Given the description of an element on the screen output the (x, y) to click on. 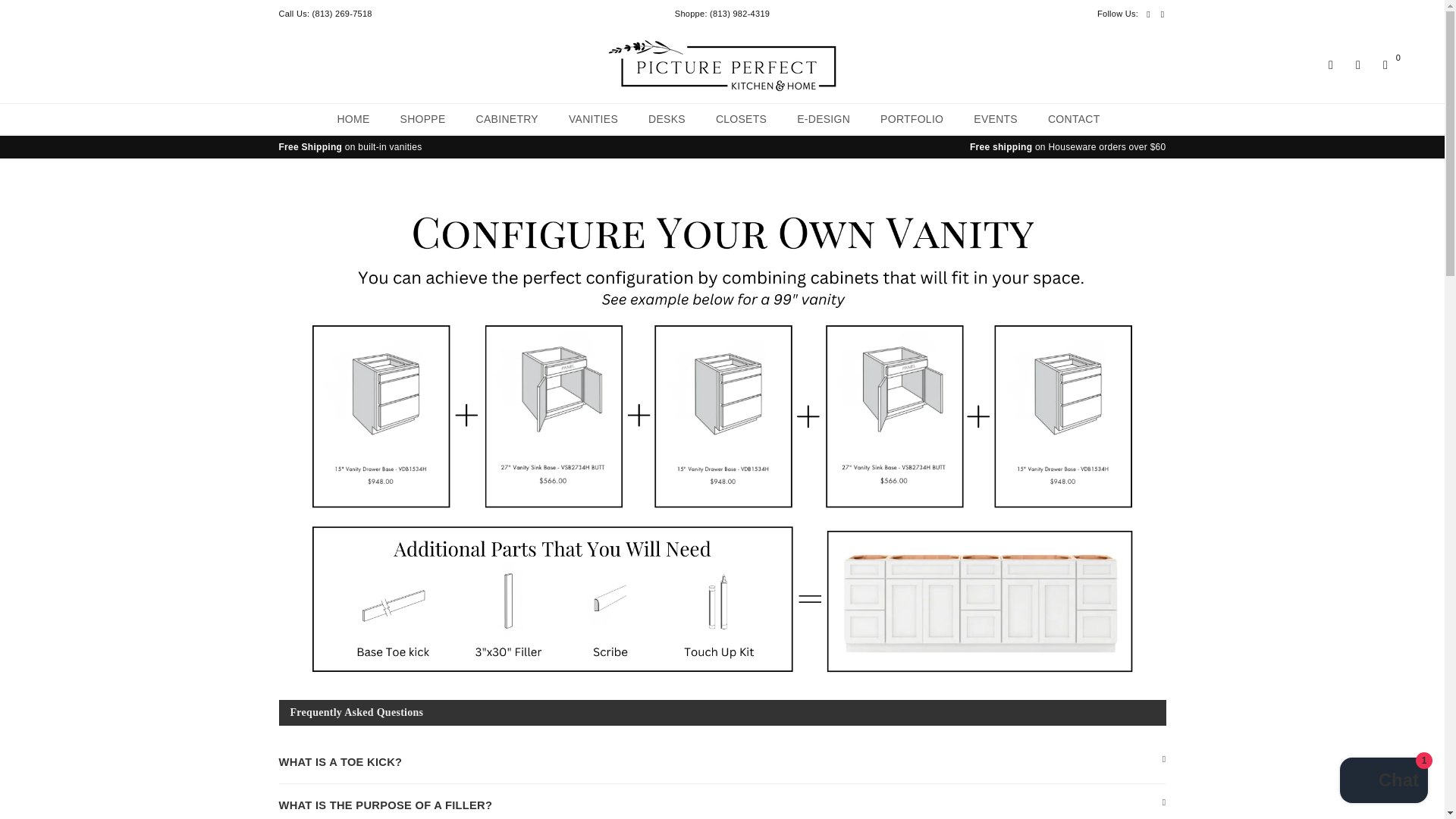
Picture Perfect Kitchen Home on Facebook (1148, 13)
Cart (1385, 65)
0 (1385, 65)
PICTURE PERFECT KITCHEN HOME (722, 65)
Shopify online store chat (1383, 781)
Facebook (1148, 13)
Instagram (1163, 13)
SHOPPE (422, 119)
HOME (352, 119)
Picture Perfect Kitchen Home on Instagram (1163, 13)
Settings (1357, 65)
Search (1330, 65)
